Given the description of an element on the screen output the (x, y) to click on. 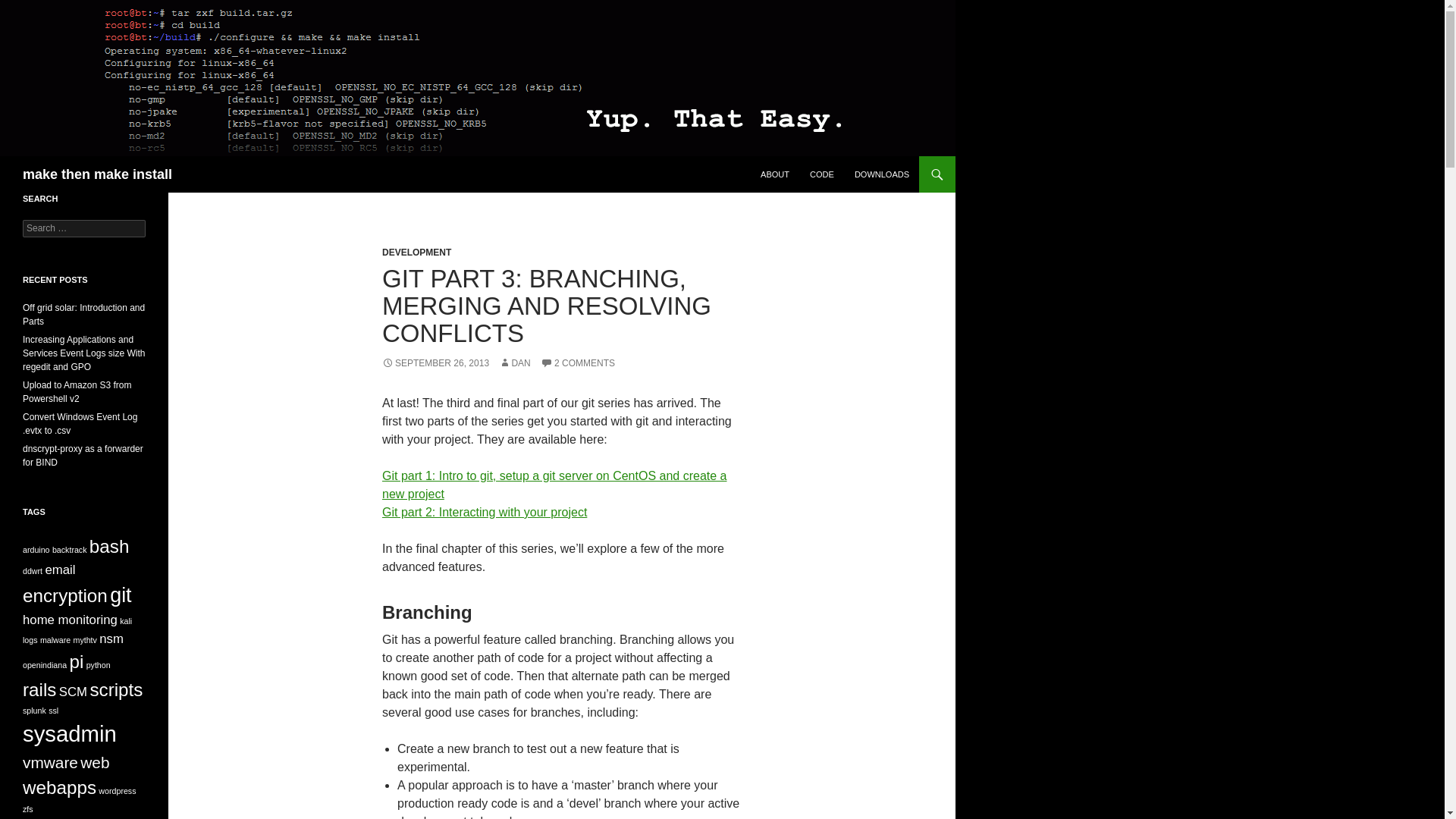
kali (125, 620)
home monitoring (70, 619)
dnscrypt-proxy as a forwarder for BIND (82, 455)
Upload to Amazon S3 from Powershell v2 (77, 392)
Git part 2: Interacting with your project (483, 512)
DOWNLOADS (881, 174)
encryption (65, 595)
Off grid solar: Introduction and Parts (83, 314)
ddwrt (32, 570)
